Given the description of an element on the screen output the (x, y) to click on. 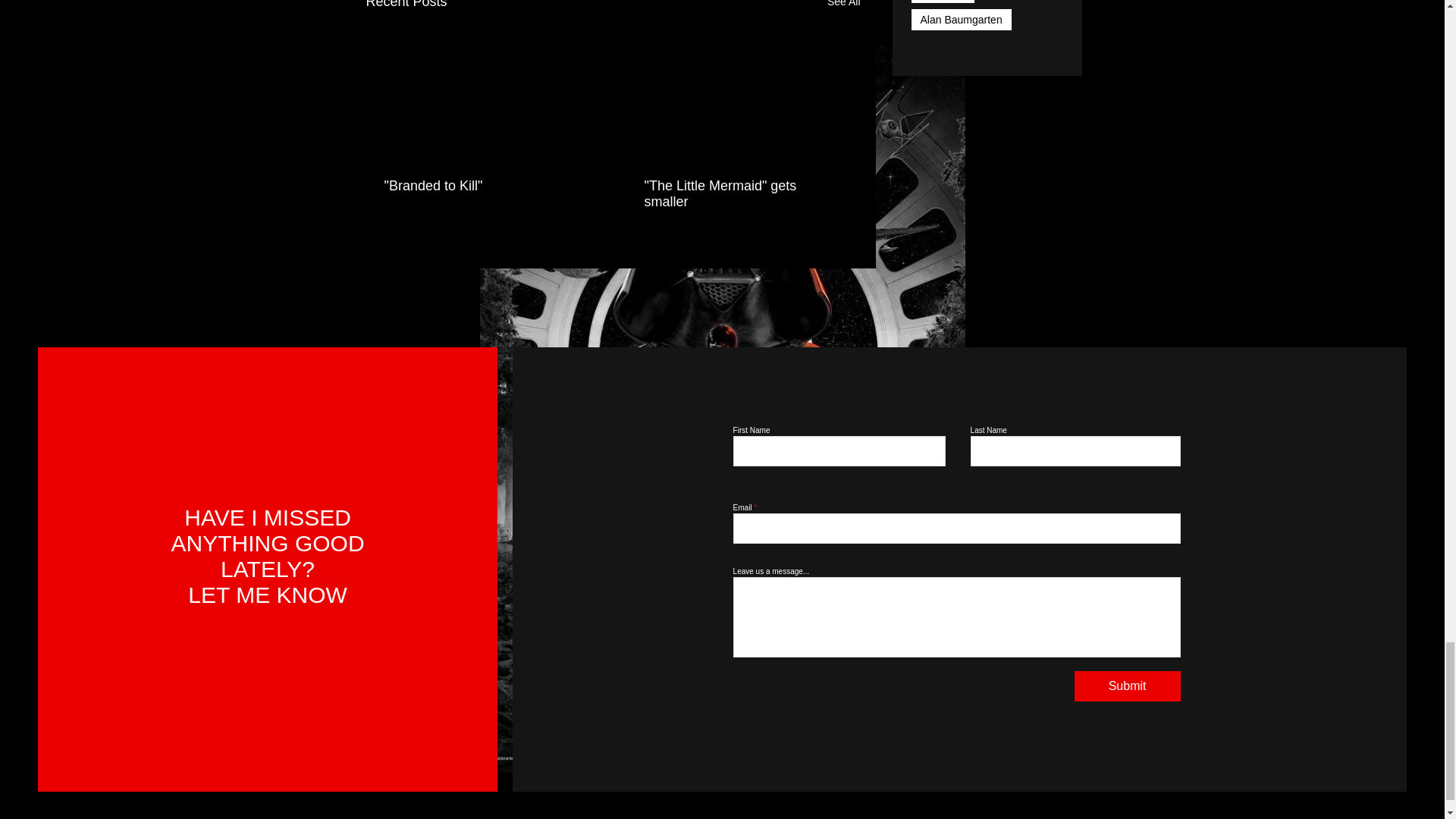
See All (843, 6)
"The Little Mermaid" gets smaller (744, 193)
"Branded to Kill" (482, 186)
